Given the description of an element on the screen output the (x, y) to click on. 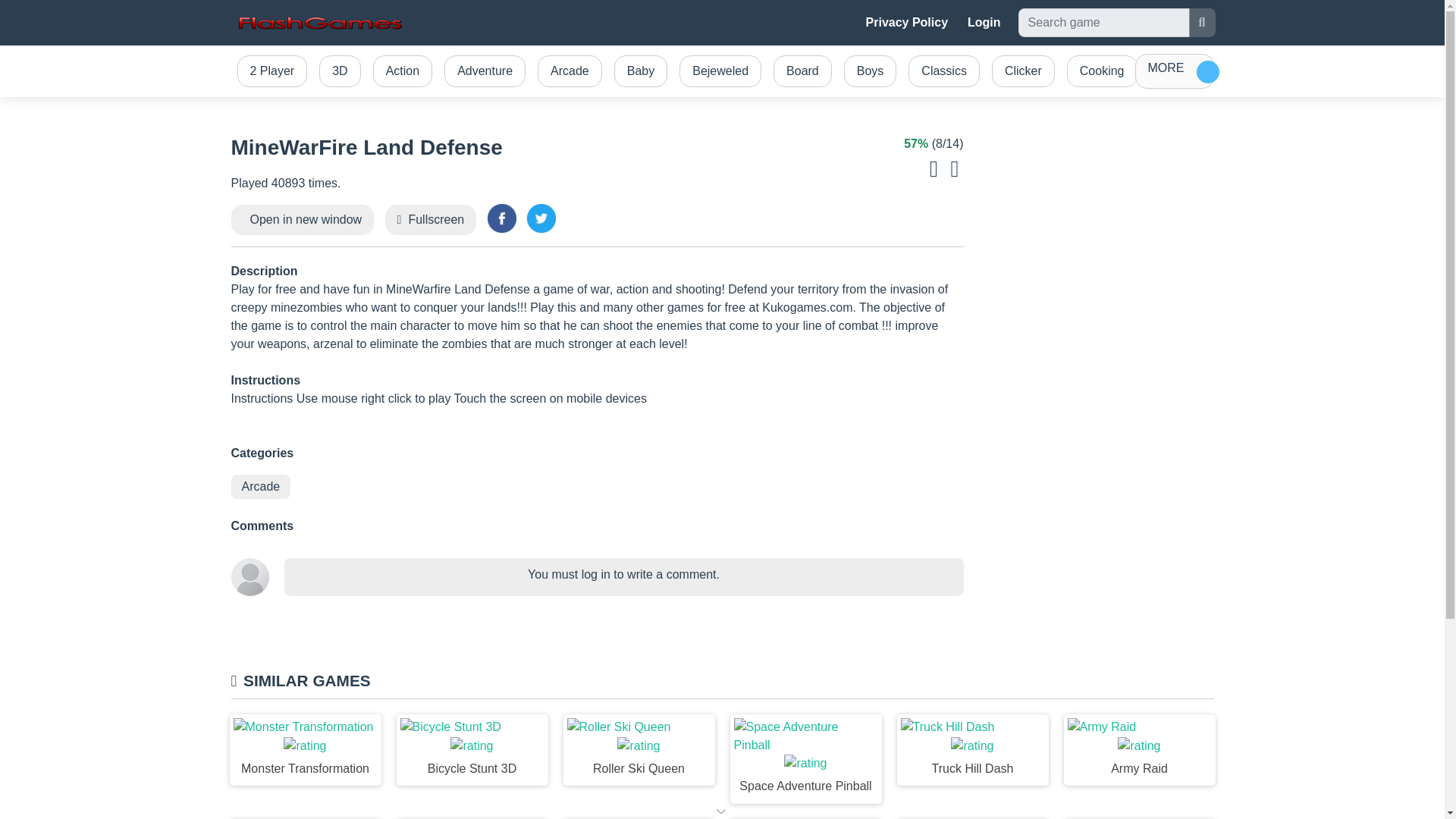
Clicker (1023, 71)
2 Player (271, 71)
3D (339, 71)
Bejeweled (719, 71)
Arcade (569, 71)
Classics (943, 71)
Ad.Plus Advertising (722, 809)
Cooking (1101, 71)
Privacy Policy (907, 22)
Action (402, 71)
